Given the description of an element on the screen output the (x, y) to click on. 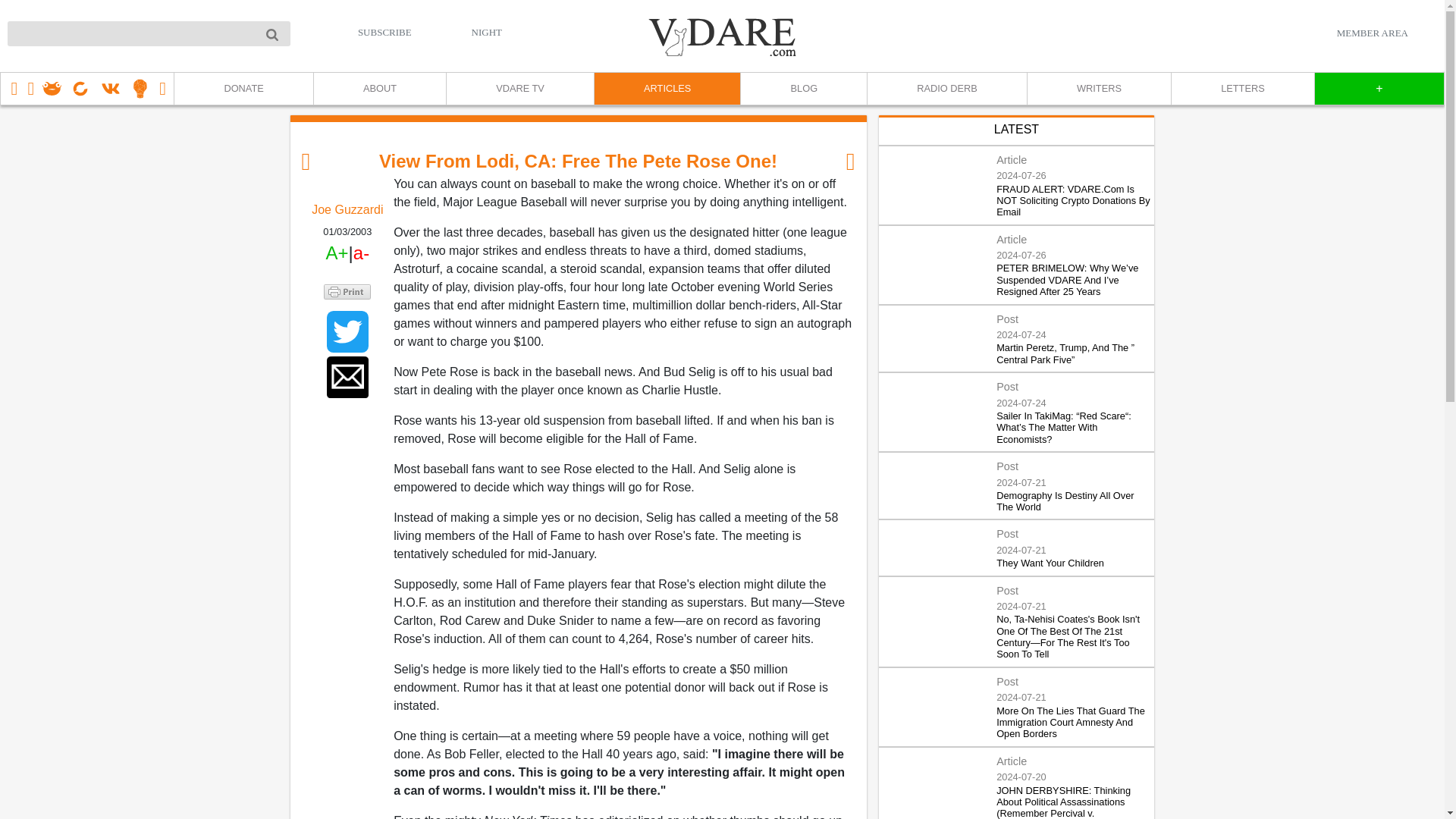
DONATE (243, 88)
VDARE TV (519, 88)
Share to Twitter (347, 331)
LETTERS (1242, 88)
RADIO DERB (946, 88)
WRITERS (1098, 88)
Share to Email (347, 377)
ARTICLES (666, 88)
SUBSCRIBE (385, 31)
BLOG (802, 88)
